Given the description of an element on the screen output the (x, y) to click on. 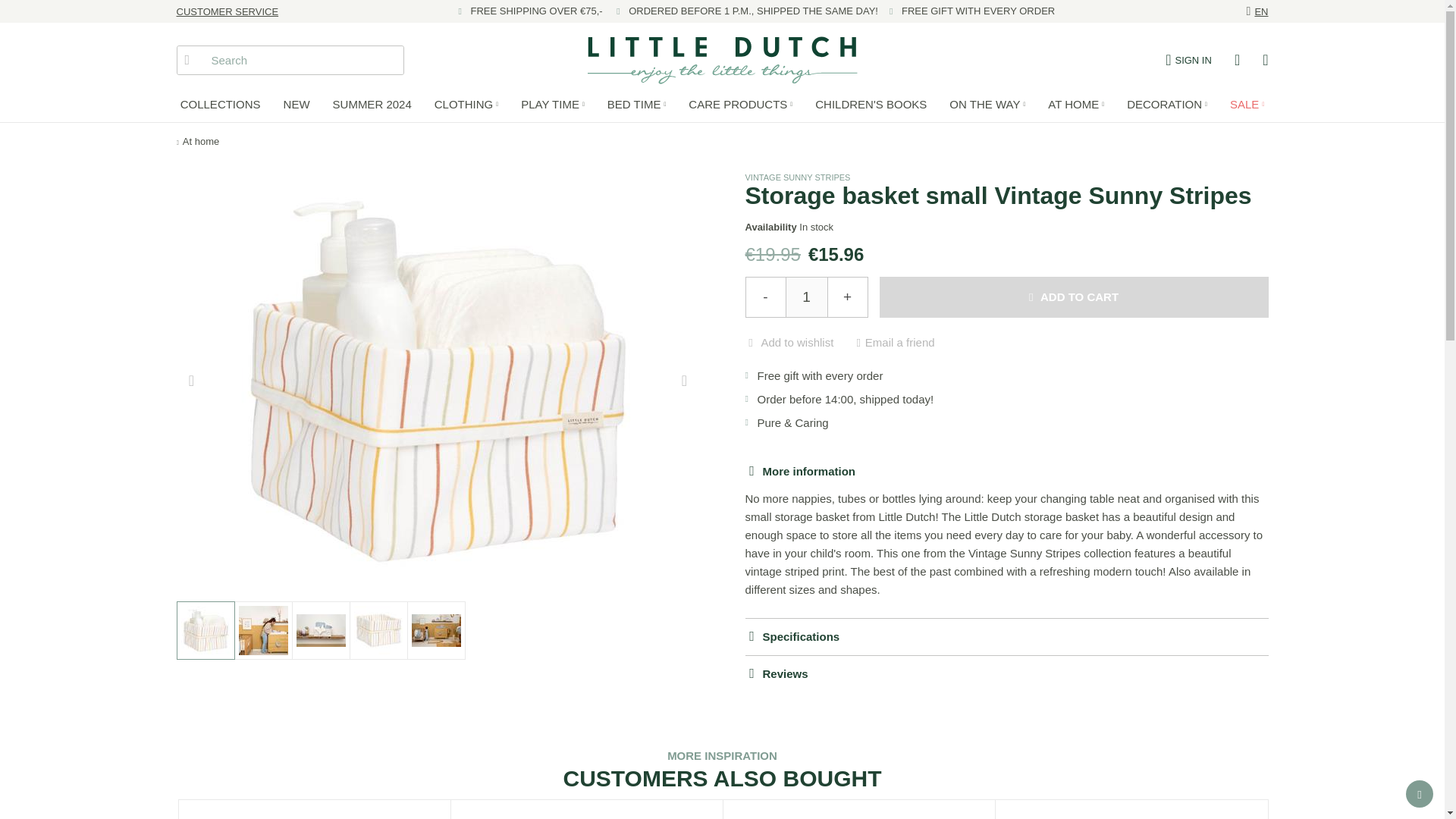
Picture of Storage basket small Vintage Sunny Stripes (205, 630)
Storage basket small Vintage Sunny Stripes (320, 630)
Customer service (227, 11)
CUSTOMER SERVICE (227, 11)
Storage basket small Vintage Sunny Stripes (262, 630)
FREE GIFT WITH EVERY ORDER (977, 10)
CLOTHING (465, 103)
1 (806, 296)
Picture of Storage basket small Vintage Sunny Stripes (262, 630)
COLLECTIONS (220, 103)
ORDERED BEFORE 1 P.M., SHIPPED THE SAME DAY! (752, 10)
Servicebar.HeaderLinks.Account.SignedOut (1188, 59)
Storage basket small Vintage Sunny Stripes (205, 630)
SUMMER 2024 (372, 103)
